Given the description of an element on the screen output the (x, y) to click on. 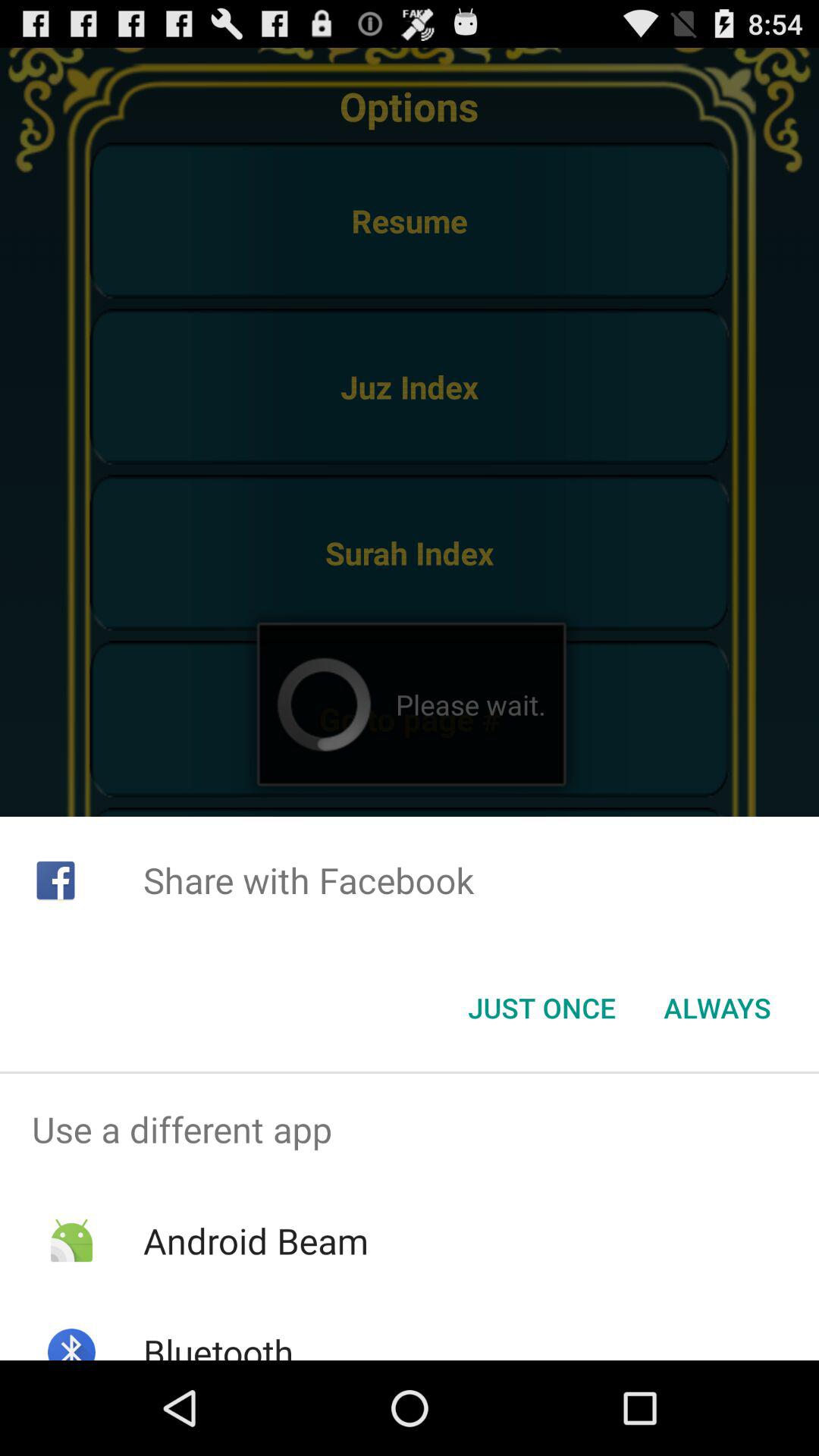
flip until just once item (541, 1007)
